Given the description of an element on the screen output the (x, y) to click on. 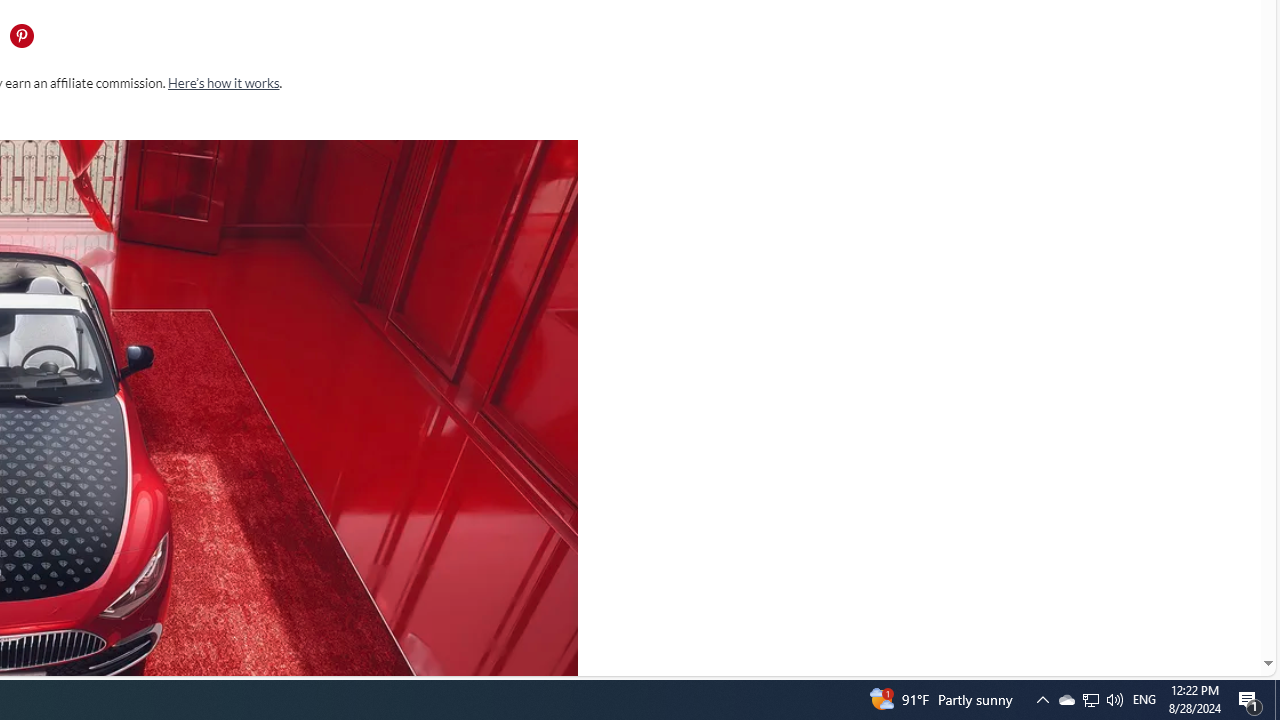
Class: social__item (25, 38)
Class: icon-svg (21, 35)
Share this page on Pintrest (21, 35)
